Given the description of an element on the screen output the (x, y) to click on. 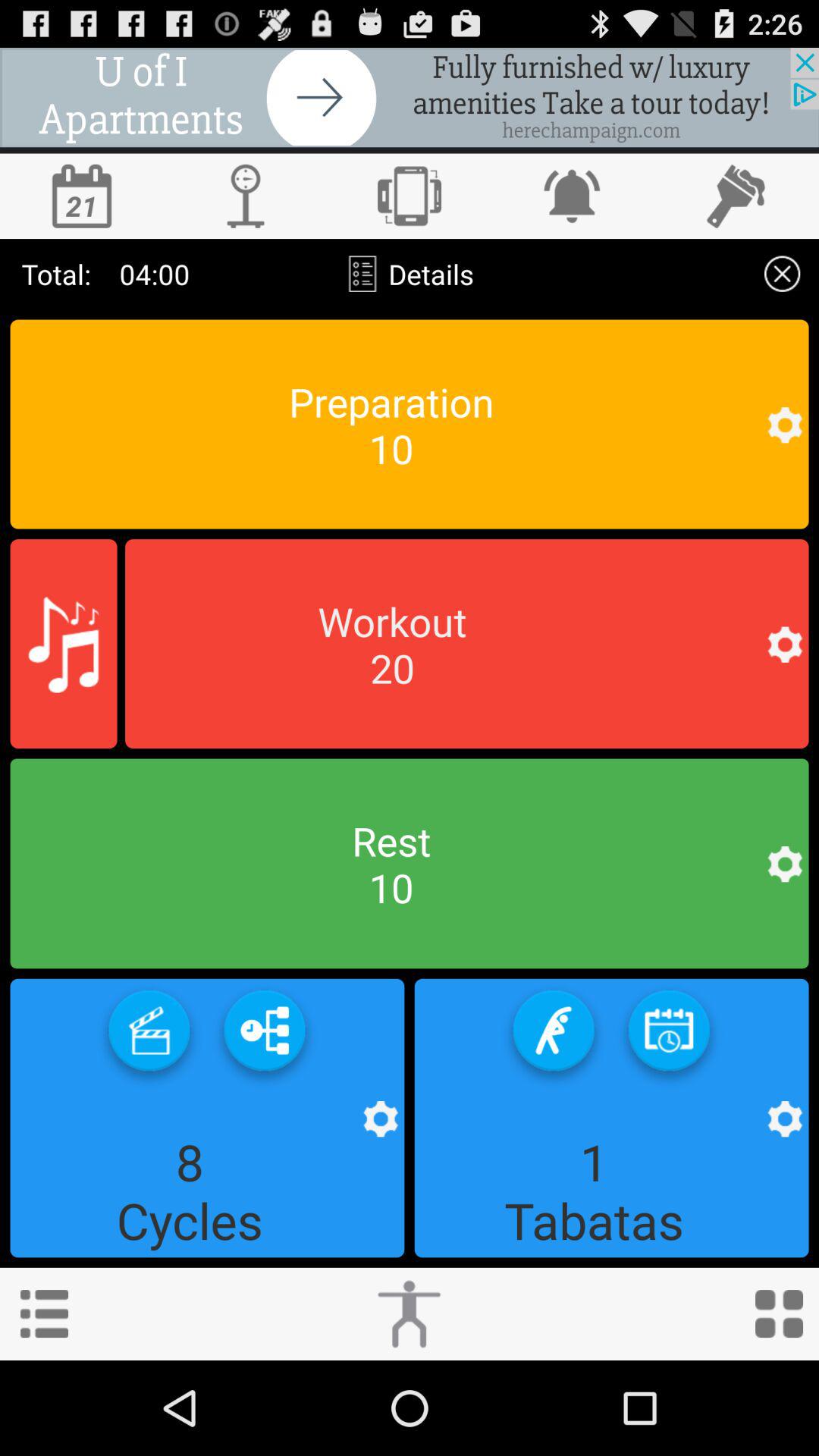
click to workout icon (408, 1314)
